Given the description of an element on the screen output the (x, y) to click on. 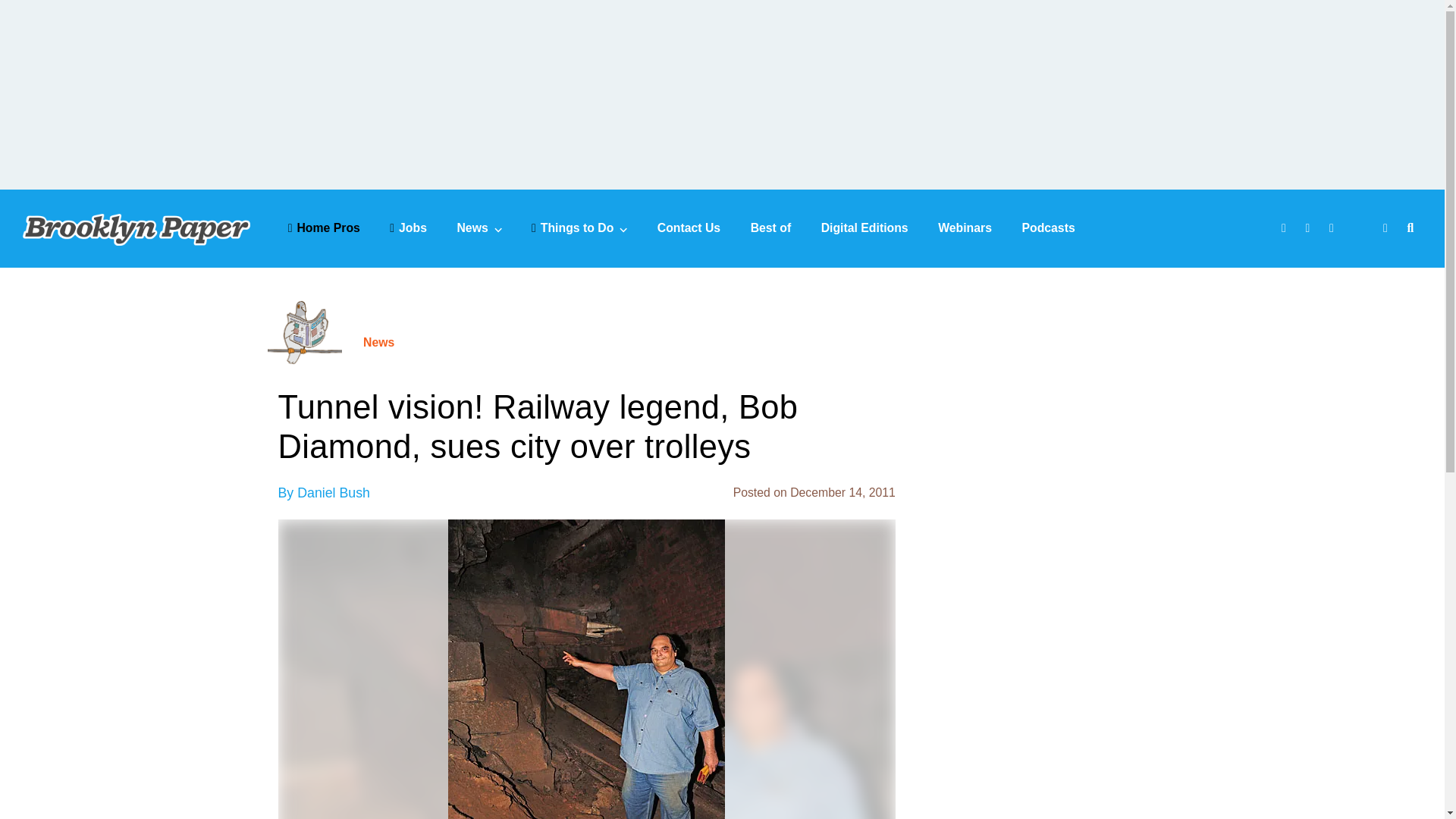
Contact Us (689, 227)
Podcasts (1048, 227)
Things to Do (579, 227)
Home Pros (323, 227)
Webinars (964, 227)
Jobs (408, 227)
Digital Editions (864, 227)
News (478, 227)
Best of (771, 227)
